Given the description of an element on the screen output the (x, y) to click on. 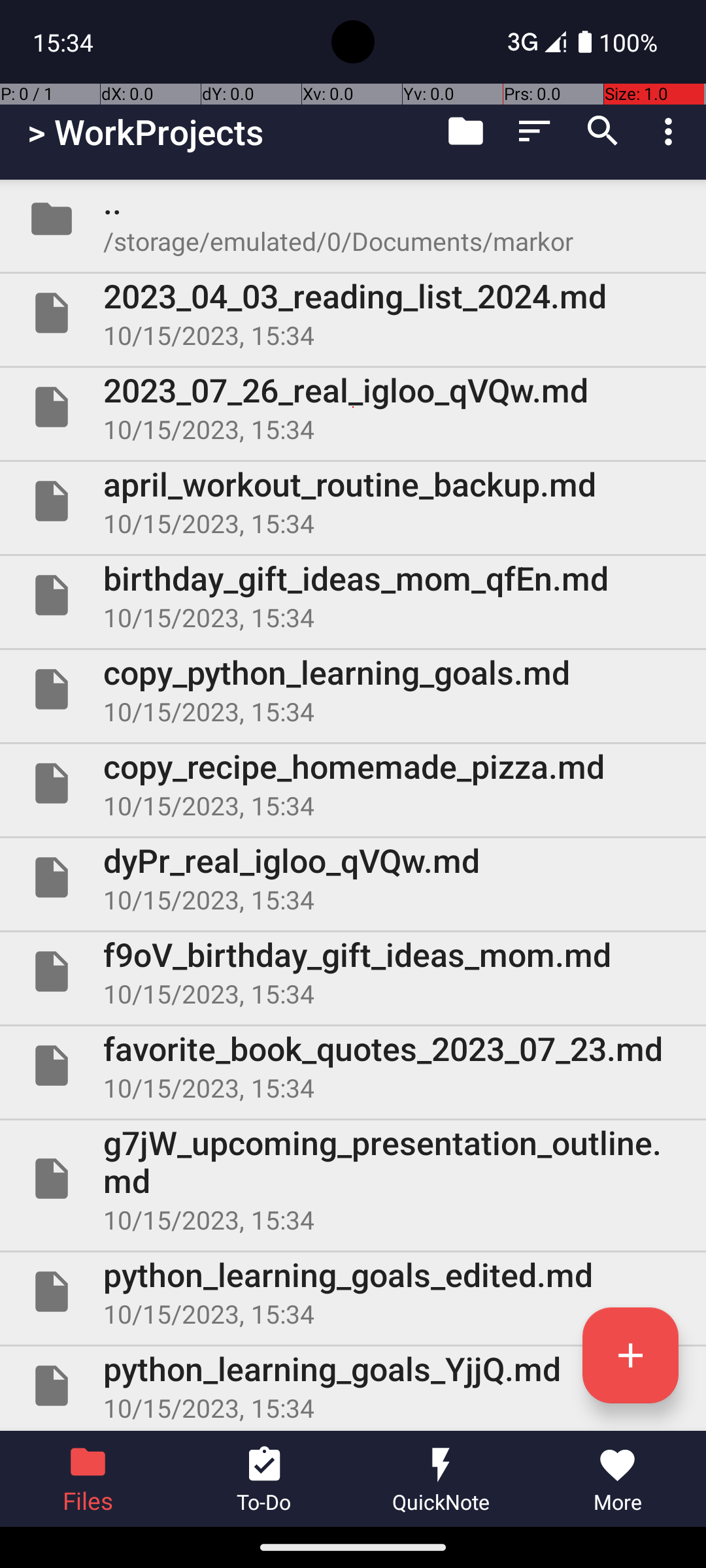
> WorkProjects Element type: android.widget.TextView (145, 131)
File 2023_04_03_reading_list_2024.md 10/15/2023, 15:34 Element type: android.widget.LinearLayout (353, 312)
File 2023_07_26_real_igloo_qVQw.md 10/15/2023, 15:34 Element type: android.widget.LinearLayout (353, 406)
File april_workout_routine_backup.md  Element type: android.widget.LinearLayout (353, 500)
File birthday_gift_ideas_mom_qfEn.md  Element type: android.widget.LinearLayout (353, 594)
File copy_python_learning_goals.md  Element type: android.widget.LinearLayout (353, 689)
File copy_recipe_homemade_pizza.md  Element type: android.widget.LinearLayout (353, 783)
File dyPr_real_igloo_qVQw.md  Element type: android.widget.LinearLayout (353, 877)
File f9oV_birthday_gift_ideas_mom.md  Element type: android.widget.LinearLayout (353, 971)
File favorite_book_quotes_2023_07_23.md  Element type: android.widget.LinearLayout (353, 1065)
File g7jW_upcoming_presentation_outline.md  Element type: android.widget.LinearLayout (353, 1178)
File python_learning_goals_edited.md  Element type: android.widget.LinearLayout (353, 1291)
File python_learning_goals_YjjQ.md  Element type: android.widget.LinearLayout (353, 1385)
